Given the description of an element on the screen output the (x, y) to click on. 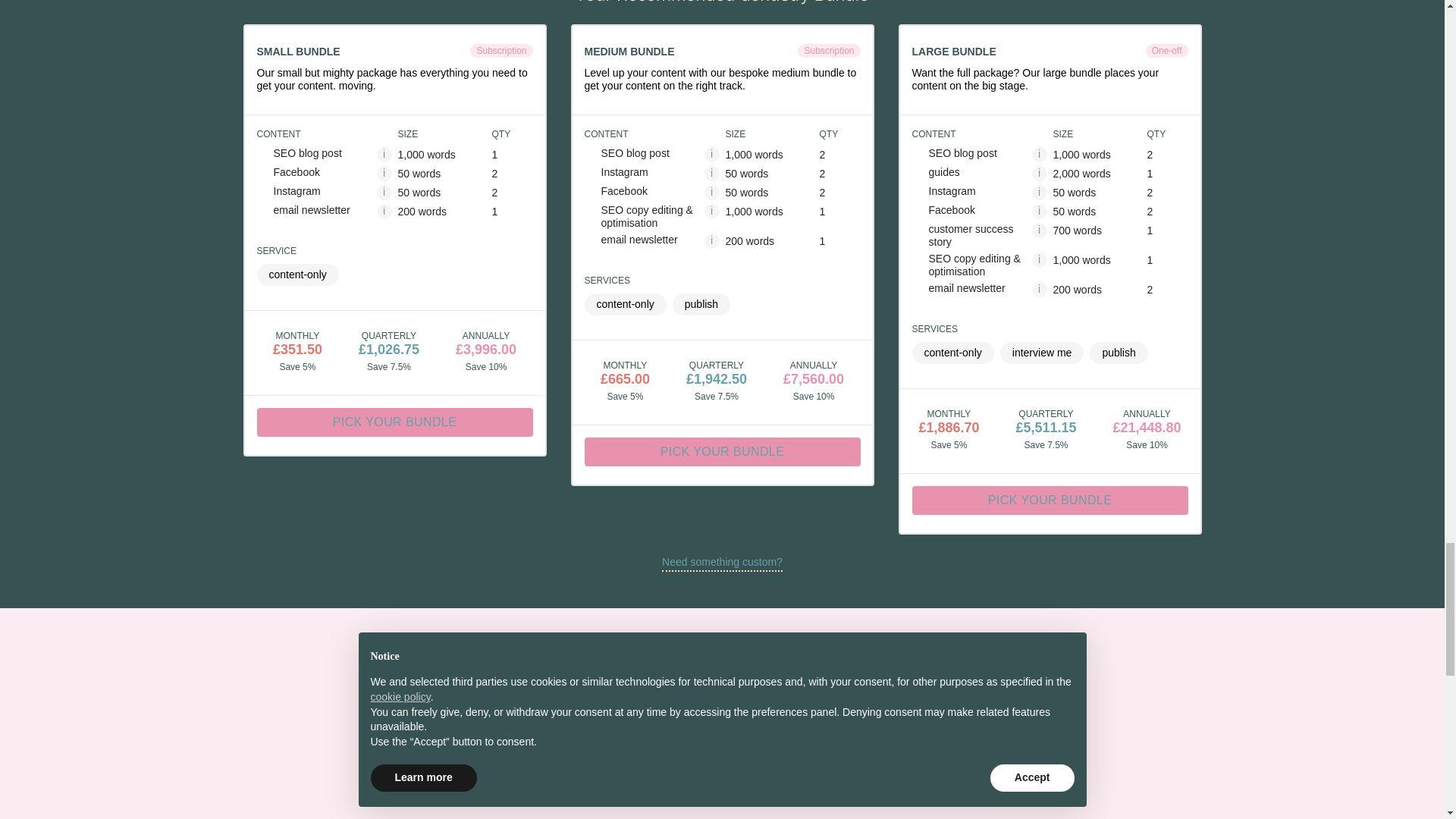
Learn more about the 'Instagram' content item (711, 172)
i (711, 192)
i (711, 172)
Learn more about the 'guides' content item (1038, 172)
PICK YOUR BUNDLE (721, 451)
i (1038, 172)
Learn more about the 'customer success story' content item (1038, 230)
i (711, 240)
Need something custom? (722, 561)
Learn more about the 'SEO blog post' content item (383, 154)
